Given the description of an element on the screen output the (x, y) to click on. 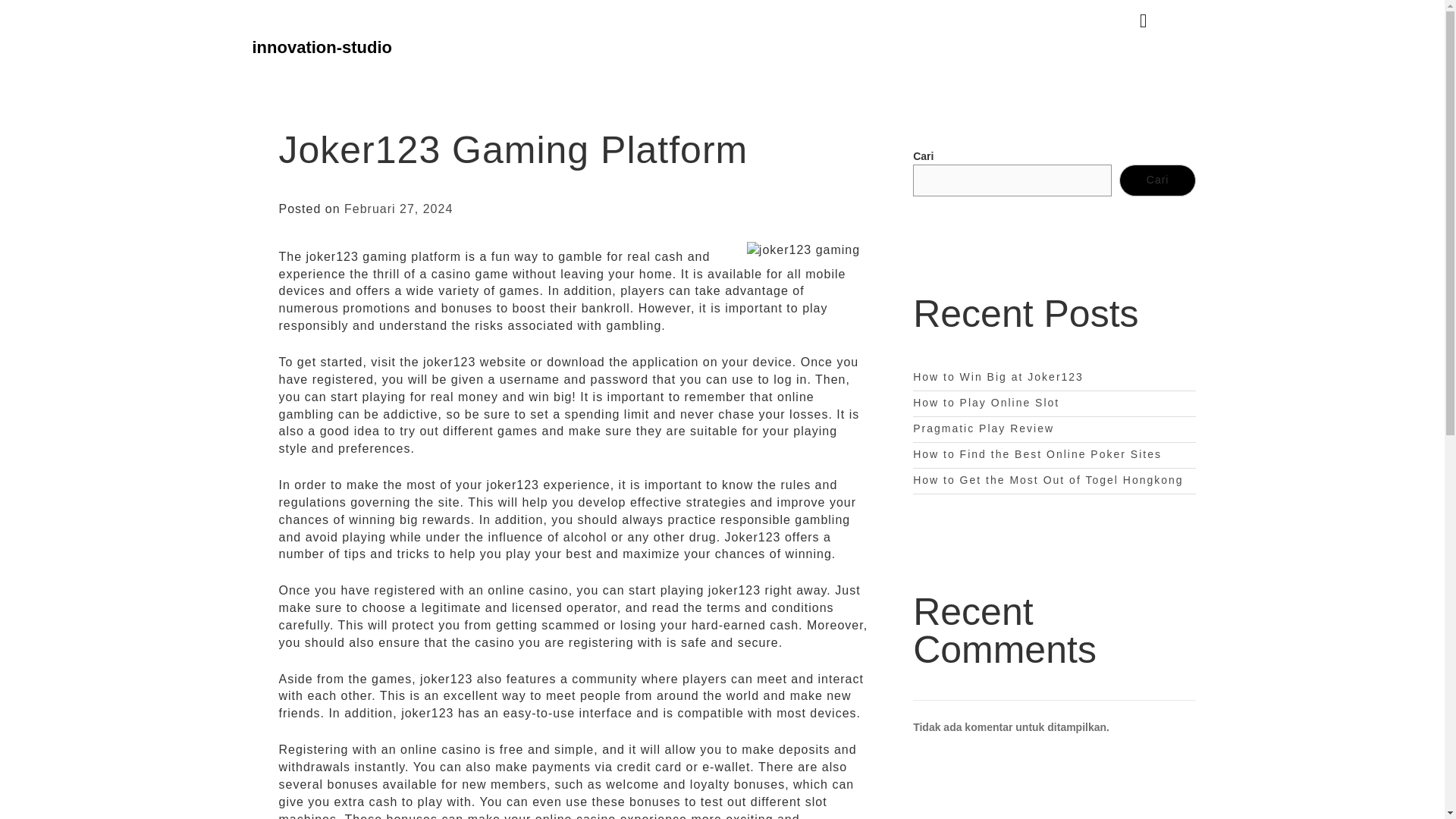
How to Win Big at Joker123 (997, 377)
Cari (1157, 180)
Pragmatic Play Review (983, 428)
Februari 27, 2024 (397, 208)
How to Play Online Slot (985, 402)
How to Find the Best Online Poker Sites (1036, 453)
innovation-studio (321, 46)
How to Get the Most Out of Togel Hongkong (1047, 480)
